Given the description of an element on the screen output the (x, y) to click on. 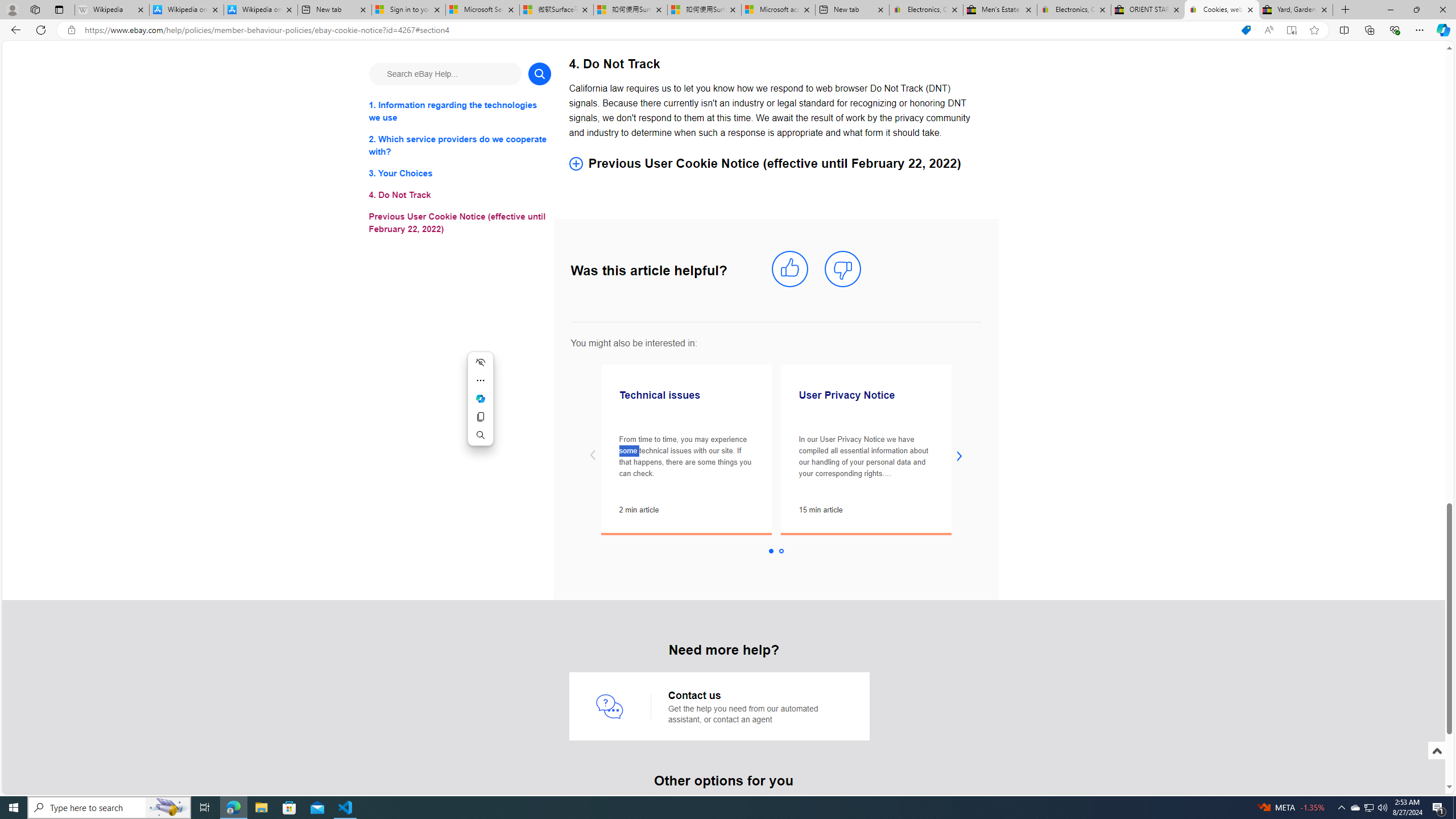
Scroll to top (1435, 762)
Slide 1 selected (770, 550)
This site has coupons! Shopping in Microsoft Edge (1245, 29)
Mini menu on text selection (480, 398)
3. Your Choices (459, 173)
More actions (480, 380)
